Given the description of an element on the screen output the (x, y) to click on. 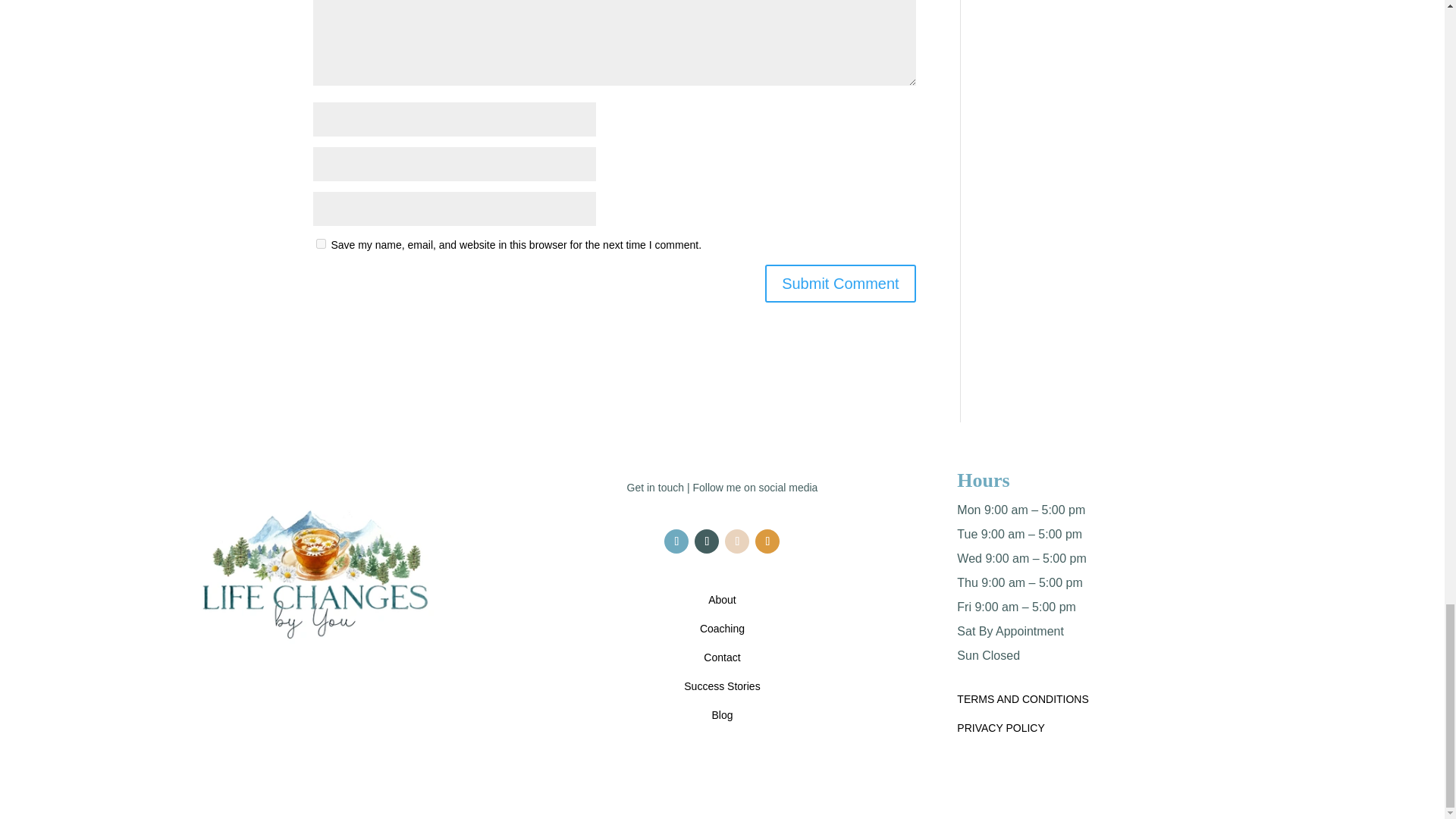
Follow on Facebook (675, 541)
yes (319, 243)
Submit Comment (840, 283)
Follow on Instagram (706, 541)
Submit Comment (840, 283)
Follow on LinkedIn (737, 541)
Follow on TikTok (766, 541)
